Given the description of an element on the screen output the (x, y) to click on. 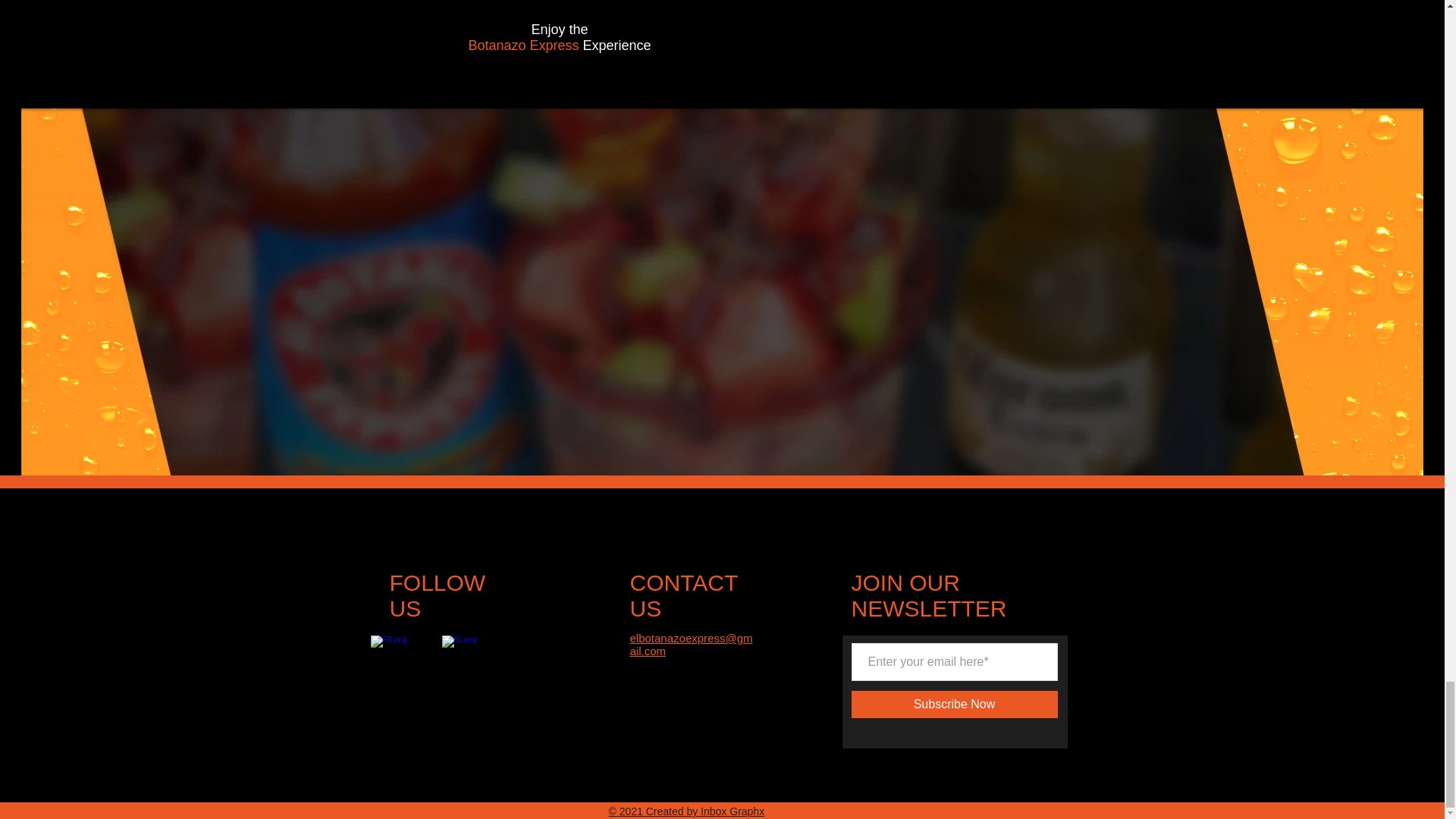
Subscribe Now (953, 704)
